Given the description of an element on the screen output the (x, y) to click on. 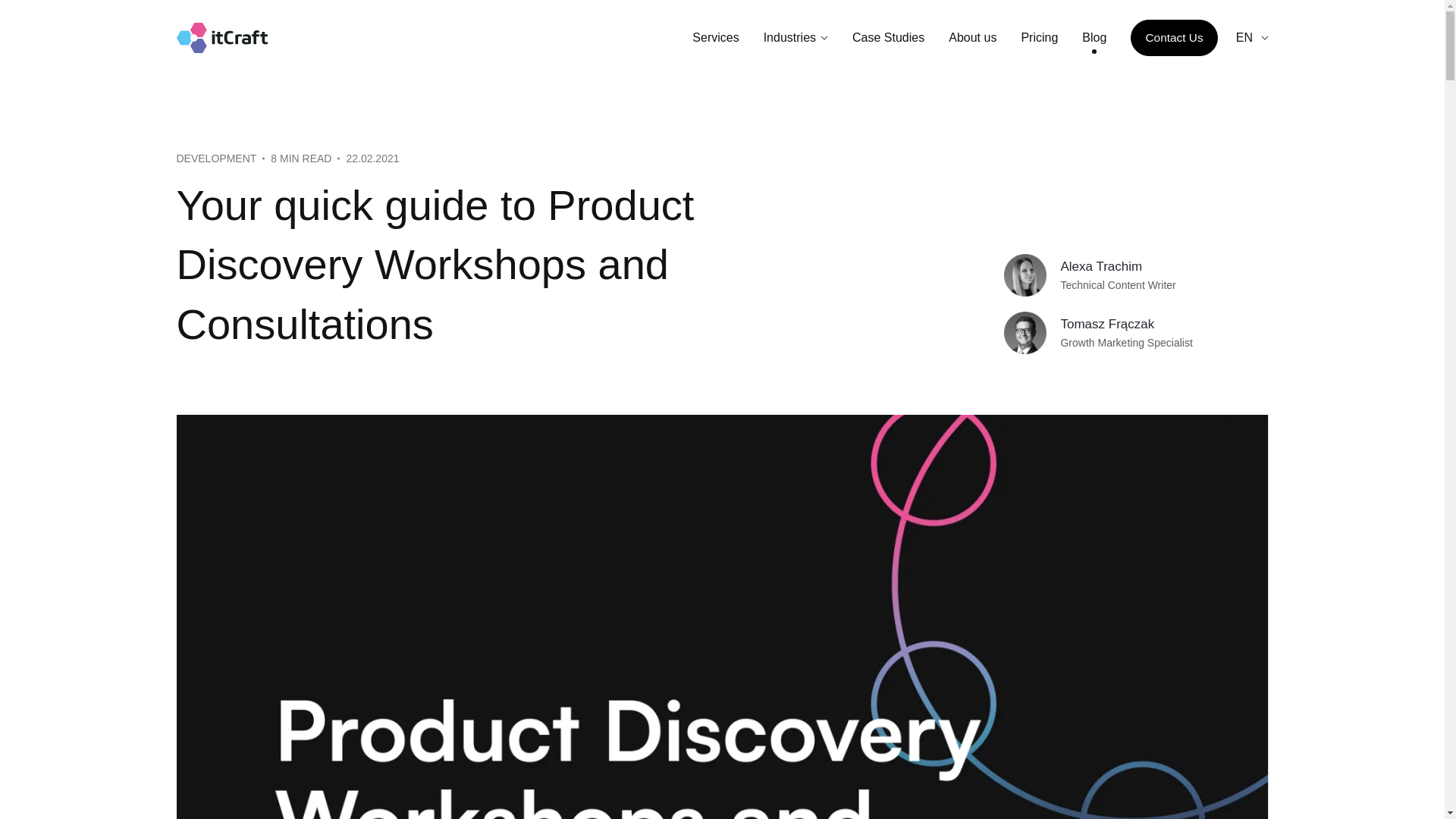
Industries (795, 37)
Contact Us (1174, 37)
Blog (1093, 37)
Pricing (1039, 37)
About us (972, 37)
EN (1252, 37)
Case Studies (887, 37)
Services (715, 37)
